Given the description of an element on the screen output the (x, y) to click on. 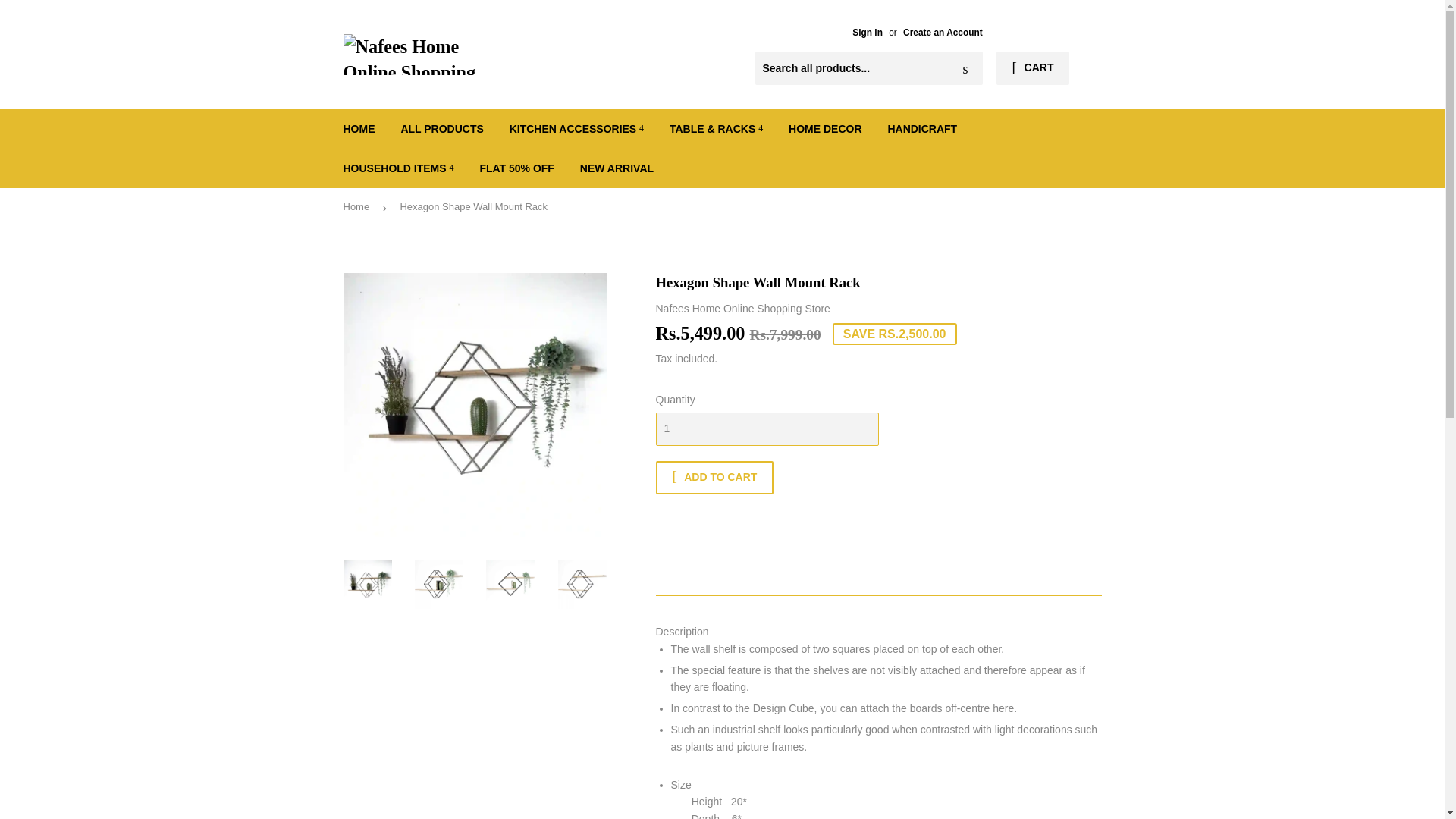
Create an Account (942, 32)
KITCHEN ACCESSORIES (576, 128)
HOME (359, 128)
CART (1031, 68)
1 (766, 428)
ALL PRODUCTS (441, 128)
Search (964, 69)
Sign in (866, 32)
